Given the description of an element on the screen output the (x, y) to click on. 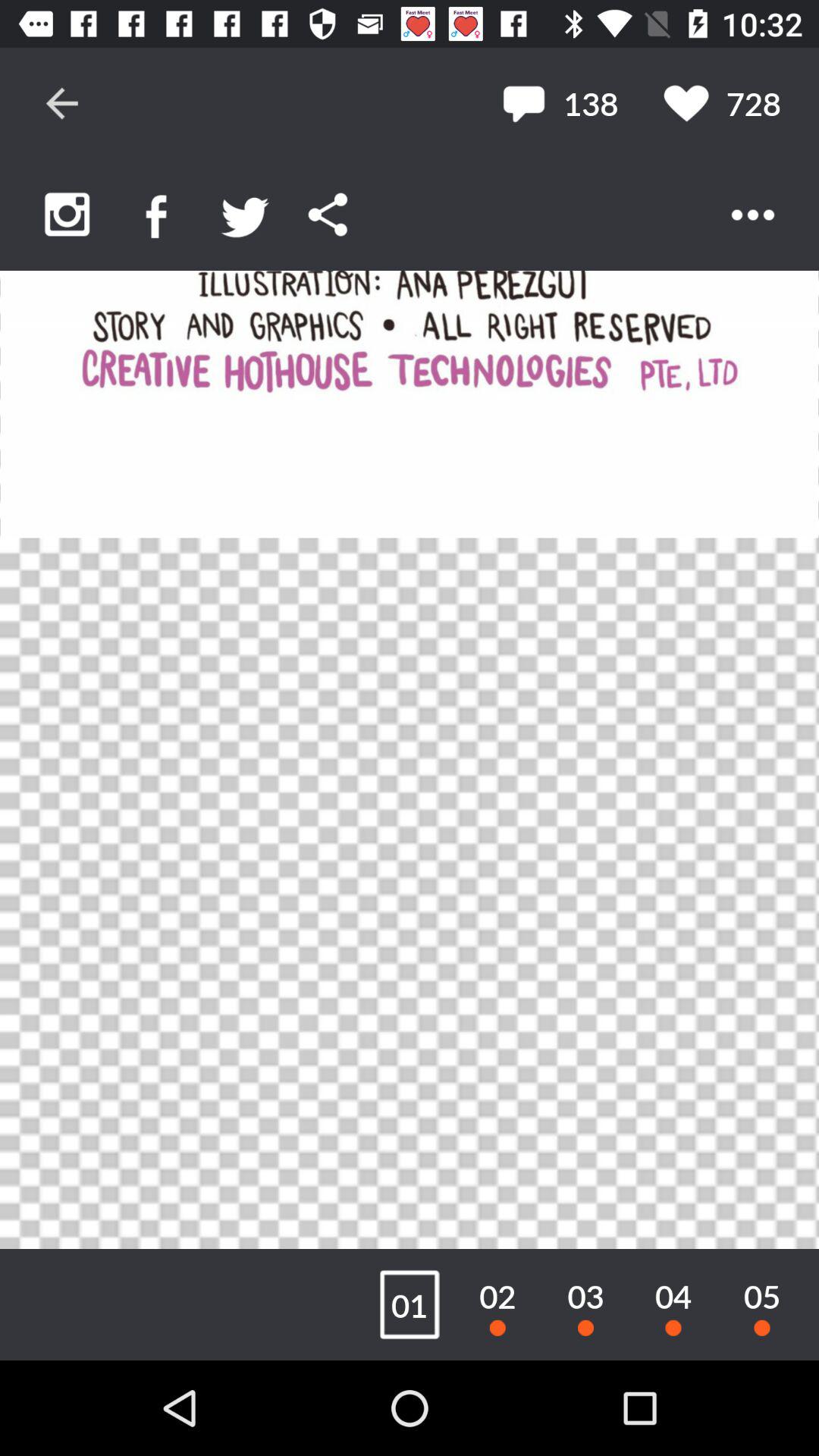
choose the 728  icon (722, 103)
